Given the description of an element on the screen output the (x, y) to click on. 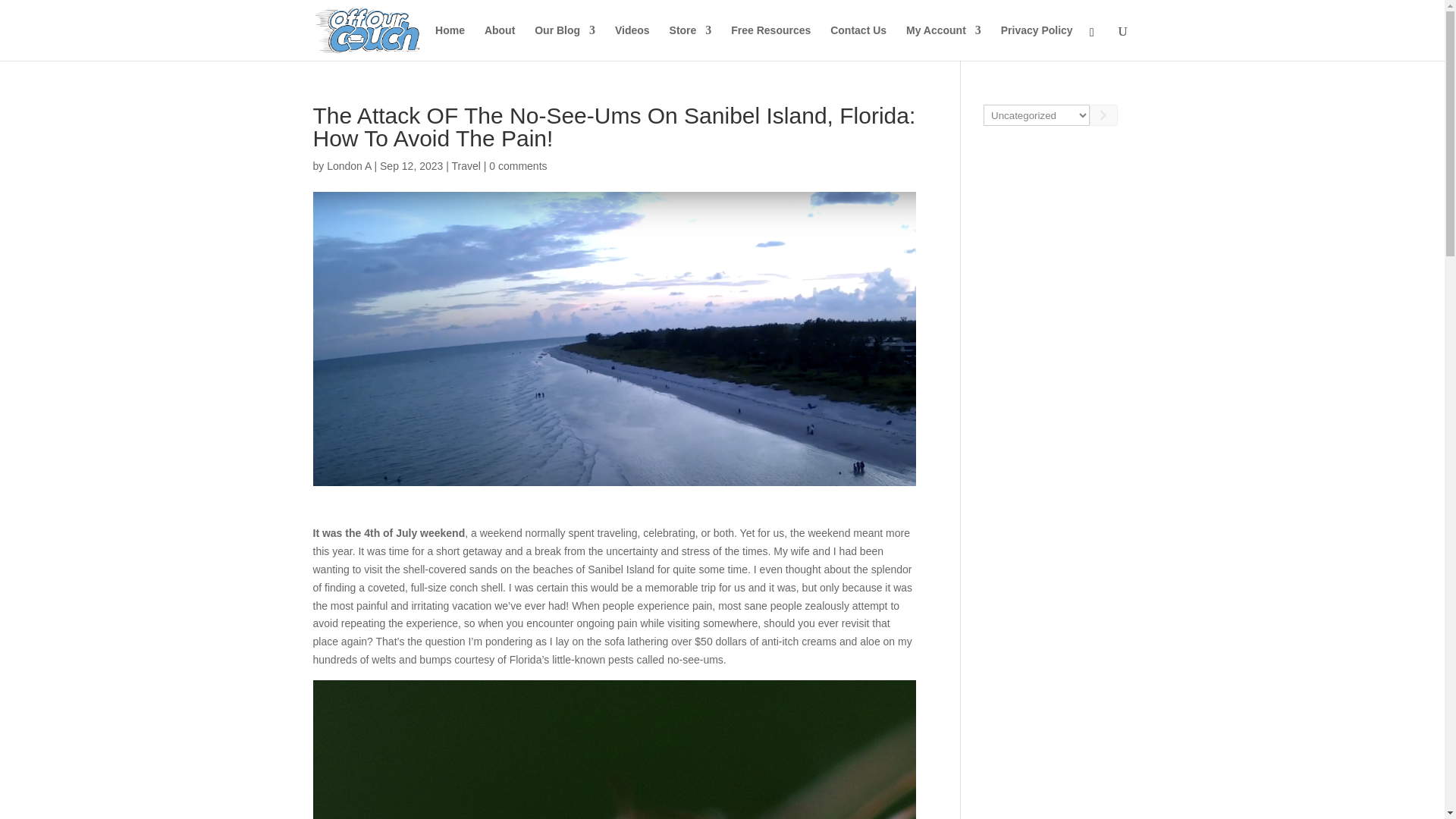
Store (690, 42)
Posts by London A (348, 165)
Travel (465, 165)
Our Blog (564, 42)
0 comments (518, 165)
Privacy Policy (1037, 42)
My Account (943, 42)
Videos (631, 42)
Free Resources (770, 42)
Contact Us (857, 42)
